Given the description of an element on the screen output the (x, y) to click on. 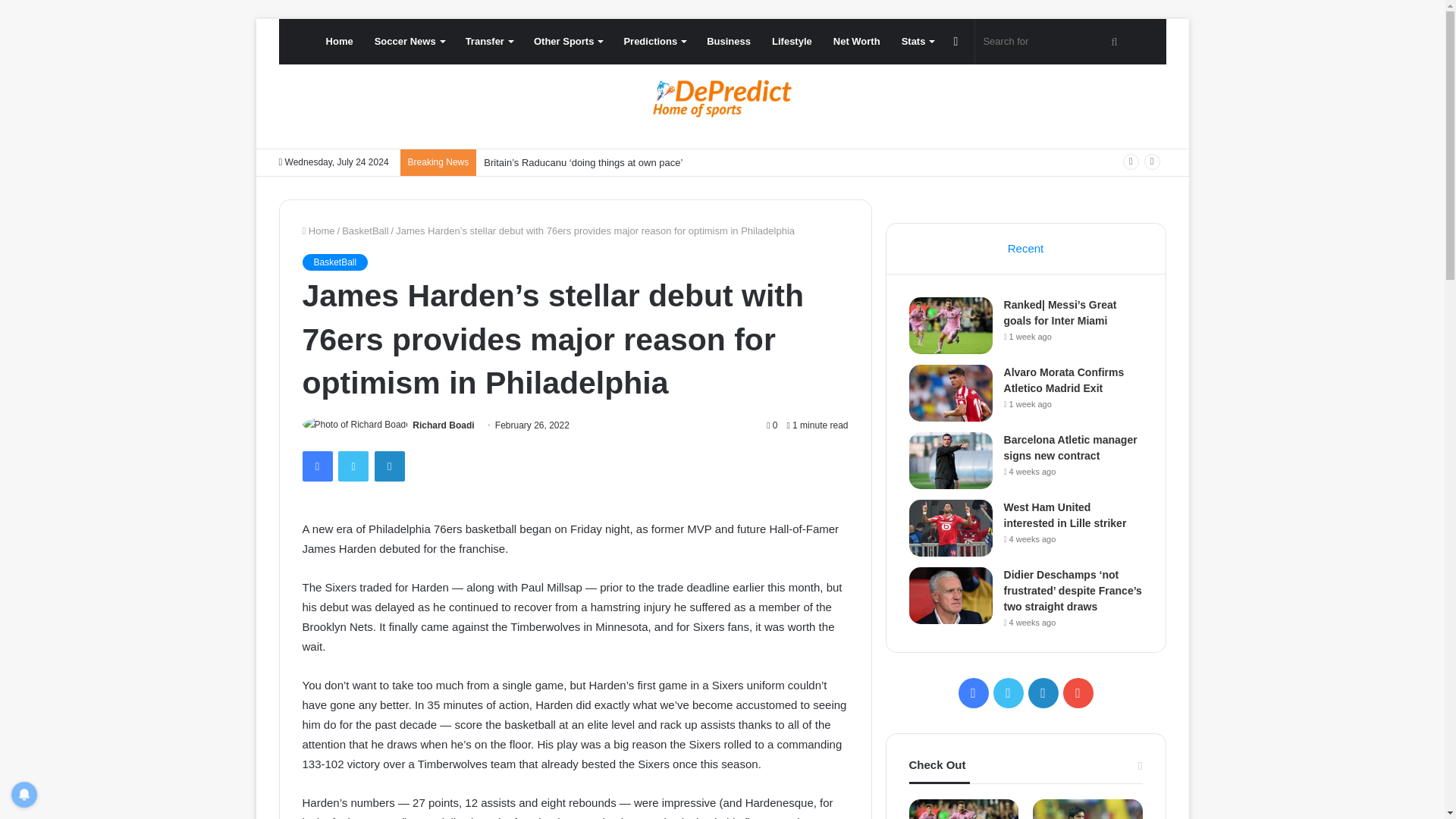
LinkedIn (389, 466)
DePredict.com (722, 98)
Facebook (316, 466)
Twitter (352, 466)
Transfer (488, 41)
Home (339, 41)
Richard Boadi (443, 425)
Other Sports (567, 41)
Soccer News (409, 41)
Predictions (653, 41)
Search for (1052, 41)
